Given the description of an element on the screen output the (x, y) to click on. 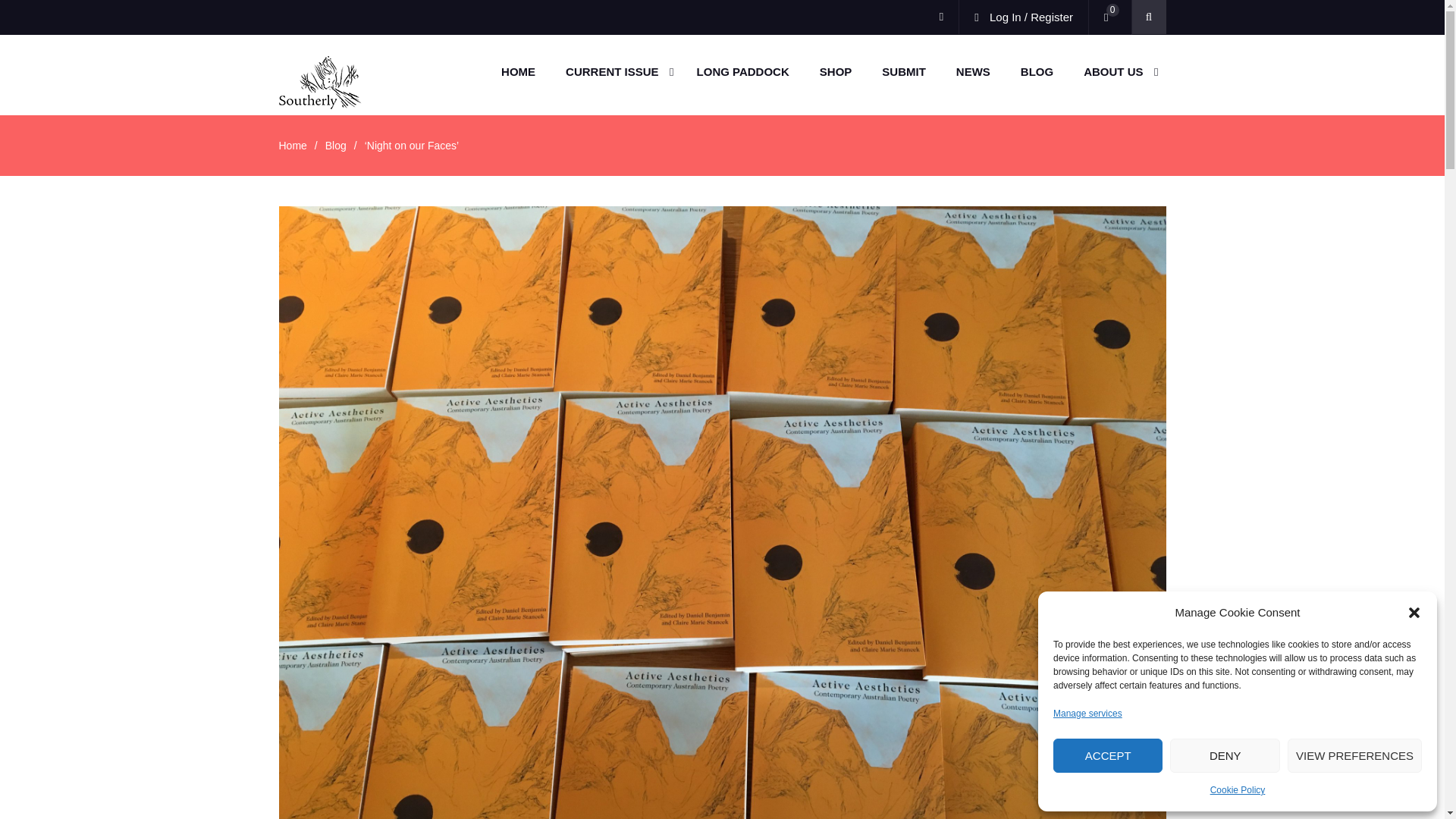
Blog (335, 145)
Home (293, 145)
SUBMIT (903, 71)
VIEW PREFERENCES (1354, 755)
ABOUT US (1117, 71)
ACCEPT (1106, 755)
Manage services (1087, 713)
CURRENT ISSUE (615, 71)
DENY (1224, 755)
Cookie Policy (1237, 790)
LONG PADDOCK (743, 71)
0 (1109, 17)
